Given the description of an element on the screen output the (x, y) to click on. 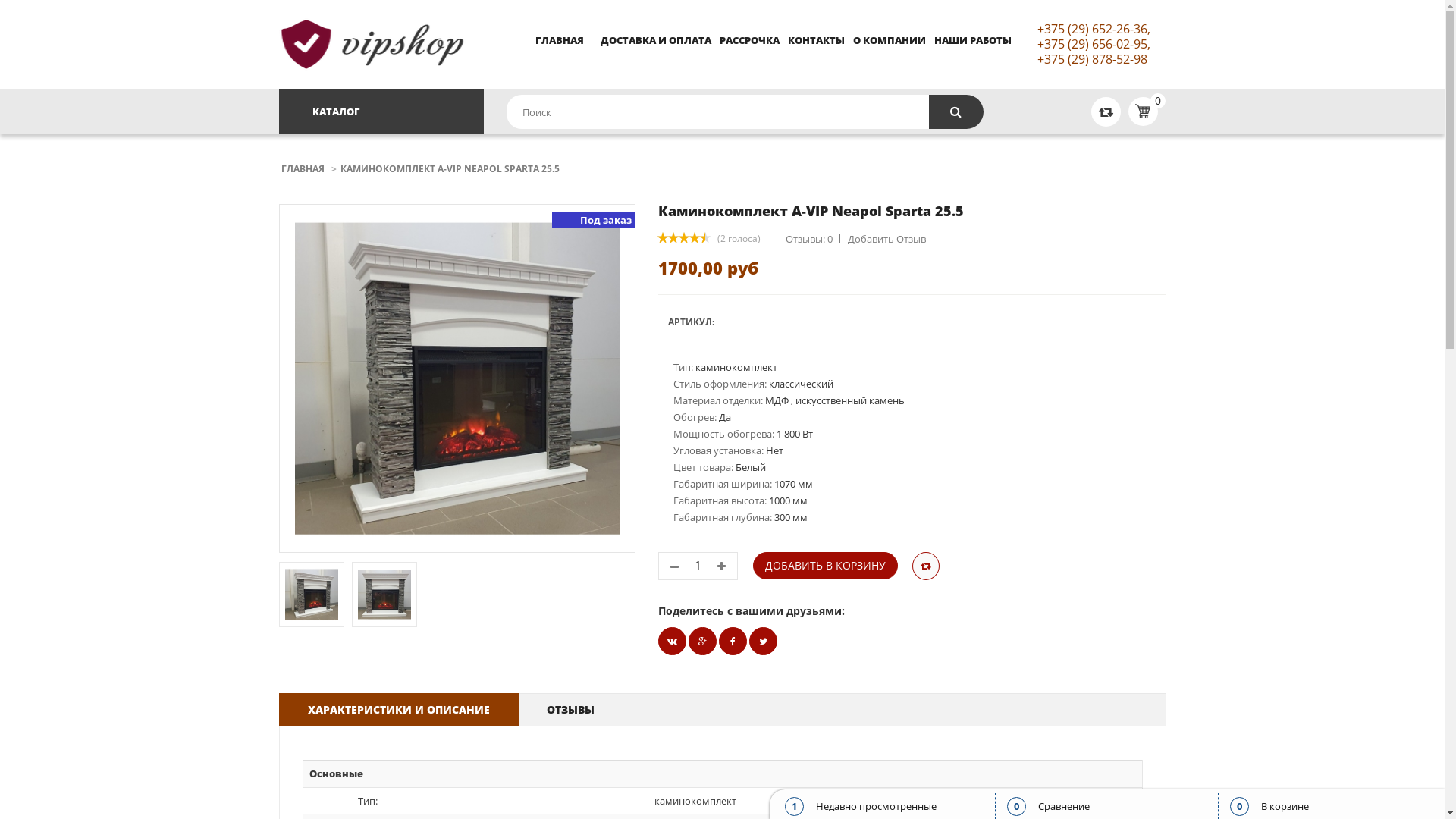
Twitter Element type: hover (672, 641)
Facebook Element type: hover (732, 641)
Google Plus Element type: hover (702, 641)
0 Element type: text (1142, 111)
Twitter Element type: hover (763, 641)
